Given the description of an element on the screen output the (x, y) to click on. 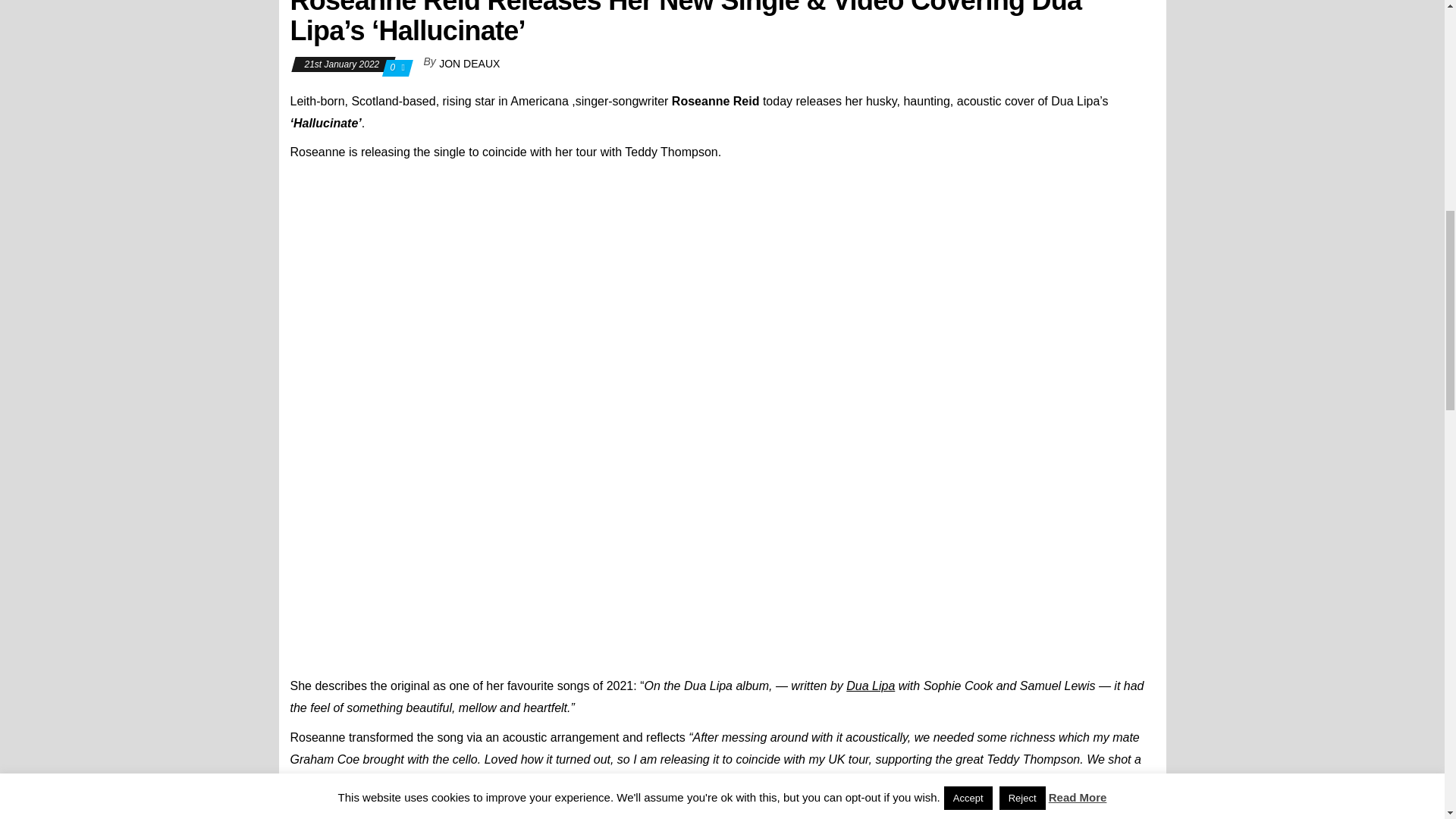
JON DEAUX (469, 63)
